Given the description of an element on the screen output the (x, y) to click on. 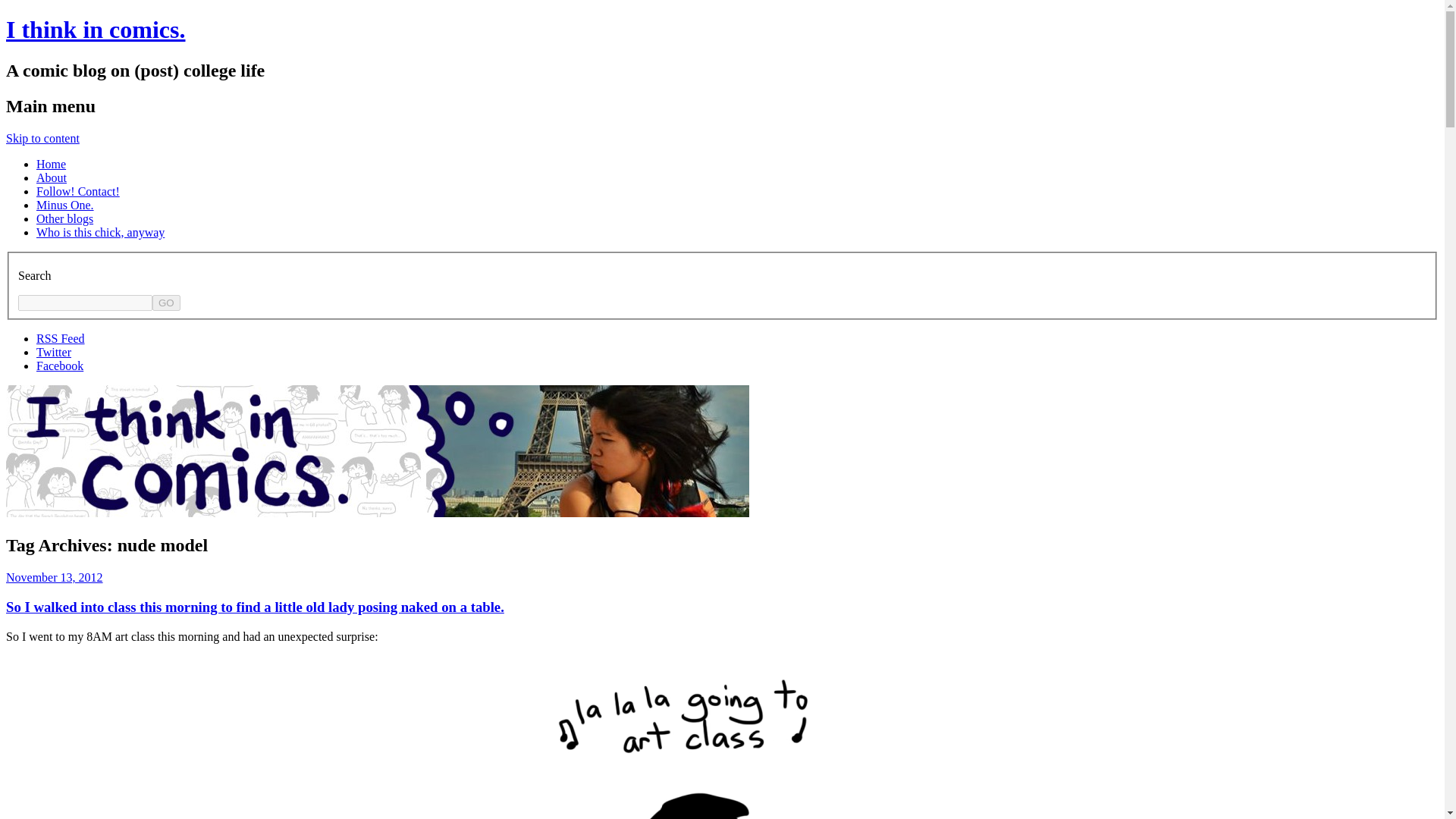
I think in comics. (94, 29)
RSS (60, 338)
Facebook (59, 365)
Skip to content (42, 137)
I think in comics. (94, 29)
About (51, 177)
Twitter (53, 351)
post 95 image 1 (722, 737)
Who is this chick, anyway (100, 232)
